Given the description of an element on the screen output the (x, y) to click on. 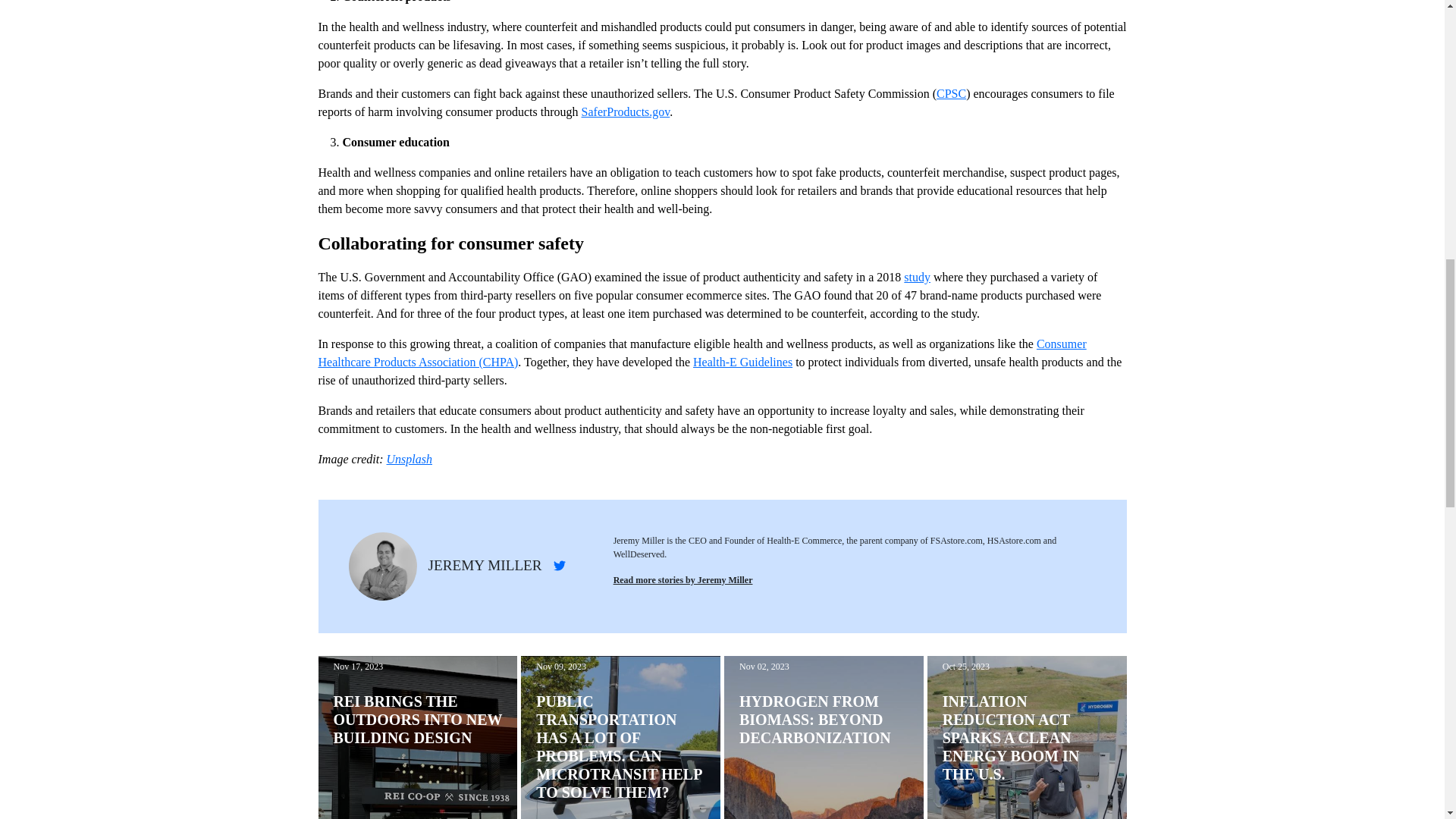
Health-E Guidelines (742, 361)
SaferProducts.gov (624, 111)
JEREMY MILLER (484, 565)
Jeremy Miller author page (682, 579)
Read more stories by Jeremy Miller (682, 579)
CPSC (951, 92)
Jeremy Miller author page (484, 565)
Unsplash (409, 459)
study (917, 277)
